Given the description of an element on the screen output the (x, y) to click on. 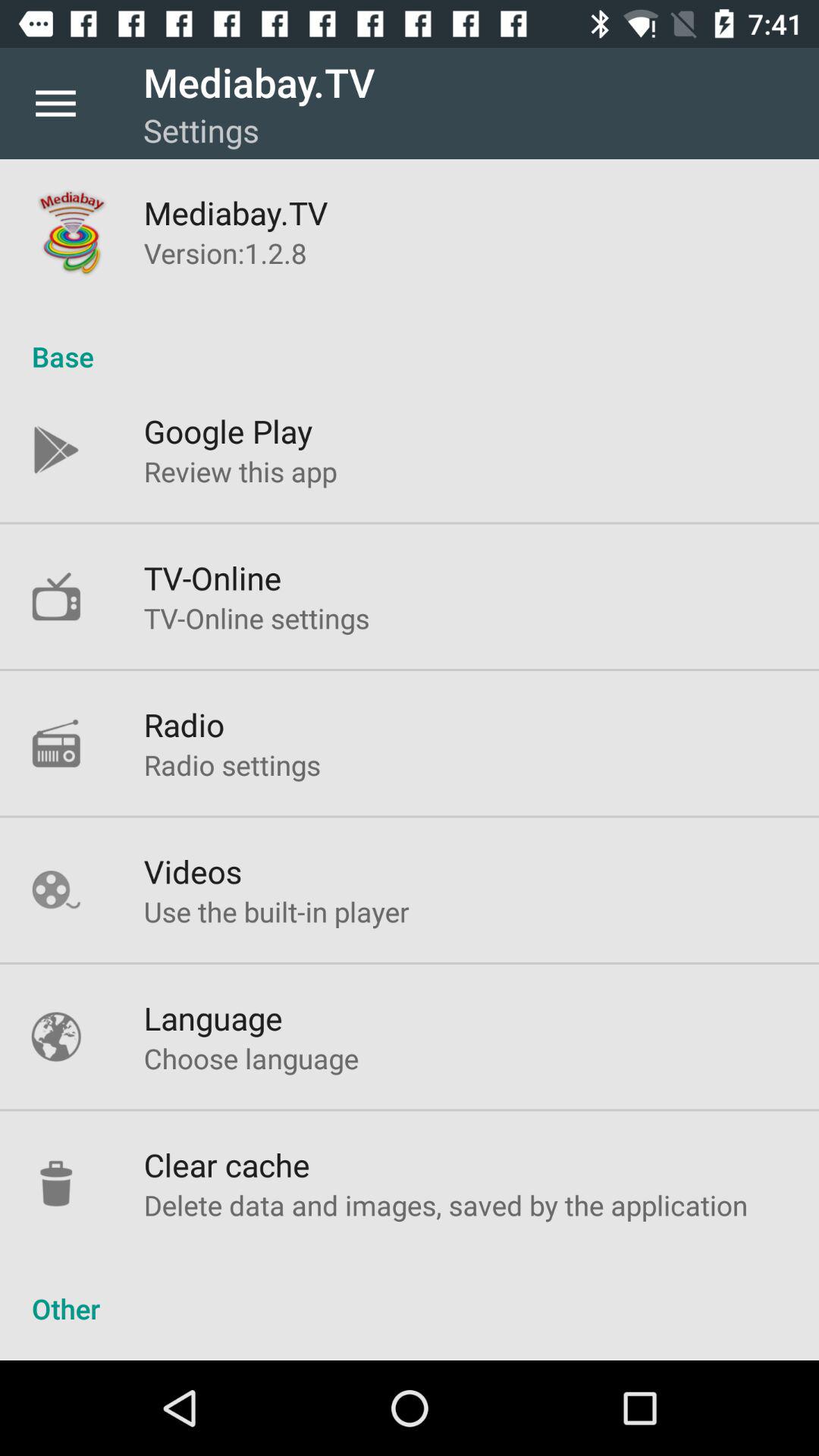
turn on item next to the mediabay.tv icon (55, 103)
